Given the description of an element on the screen output the (x, y) to click on. 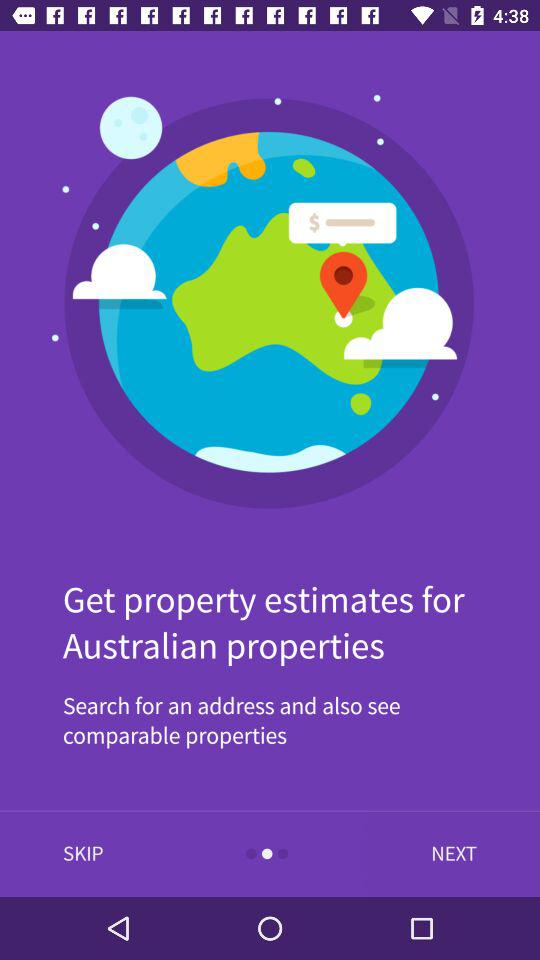
launch the item below search for an item (83, 853)
